Given the description of an element on the screen output the (x, y) to click on. 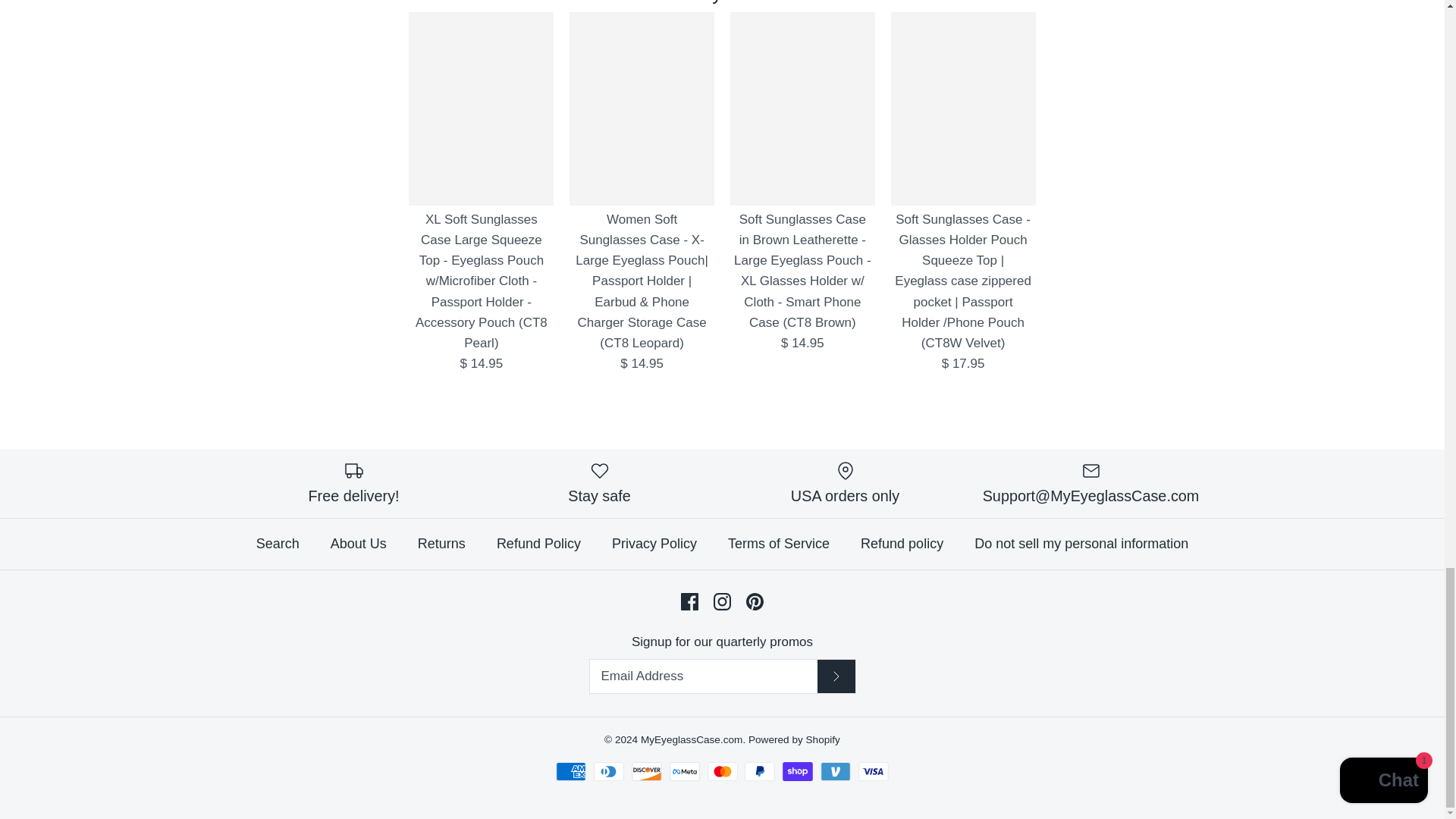
Instagram (721, 601)
Facebook (689, 601)
Pinterest (753, 601)
Instagram (721, 601)
Facebook (689, 601)
